Given the description of an element on the screen output the (x, y) to click on. 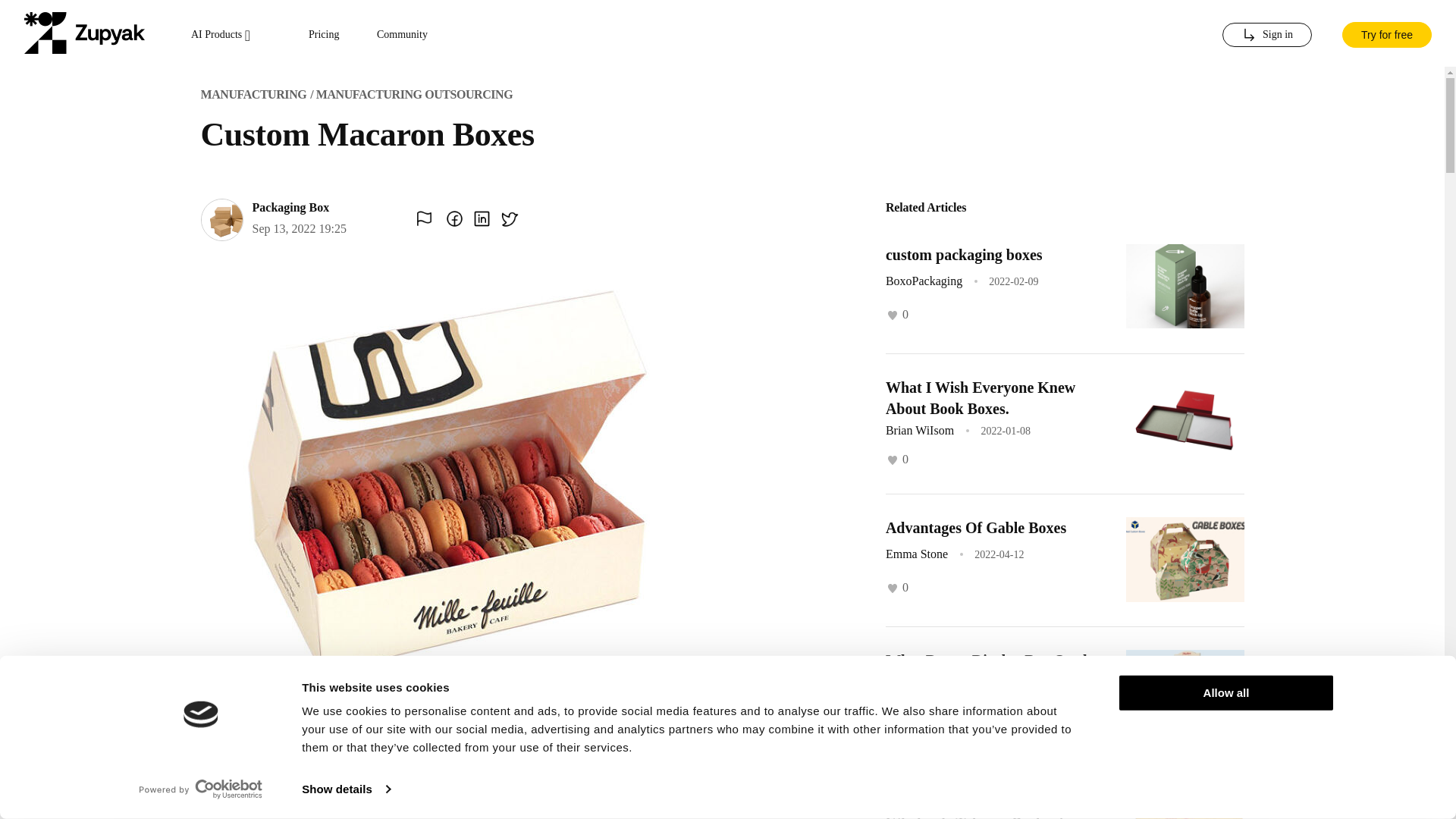
custom packaging boxes (963, 254)
Show details (345, 789)
Advantages Of Gable Boxes (975, 527)
What I Wish Everyone Knew About Book Boxes. (980, 397)
